Given the description of an element on the screen output the (x, y) to click on. 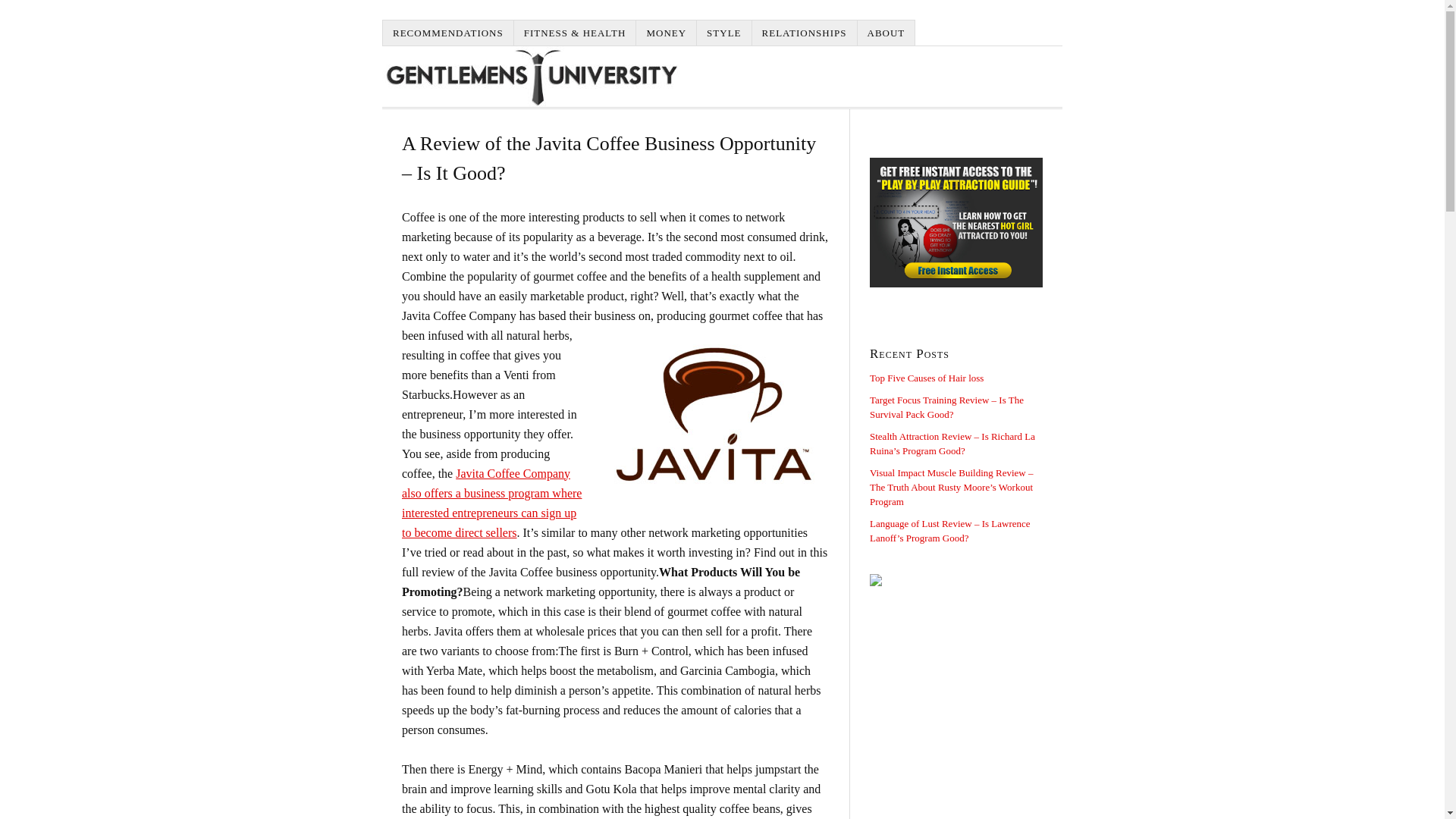
RECOMMENDATIONS (447, 32)
Javita Coffee logo (715, 405)
STYLE (724, 32)
ABOUT (886, 32)
return home (530, 75)
MONEY (666, 32)
RELATIONSHIPS (804, 32)
Top Five Causes of Hair loss (926, 377)
